Given the description of an element on the screen output the (x, y) to click on. 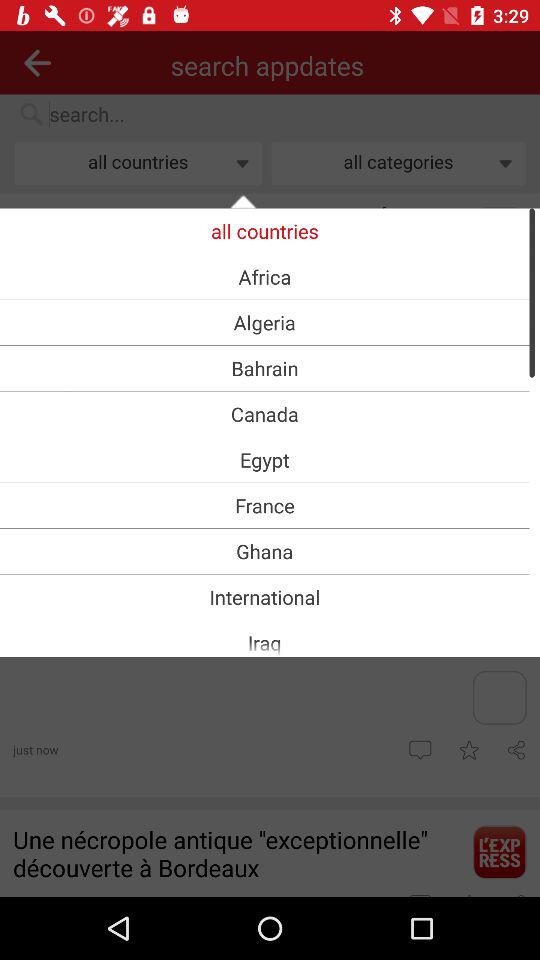
jump until bahrain item (264, 368)
